Given the description of an element on the screen output the (x, y) to click on. 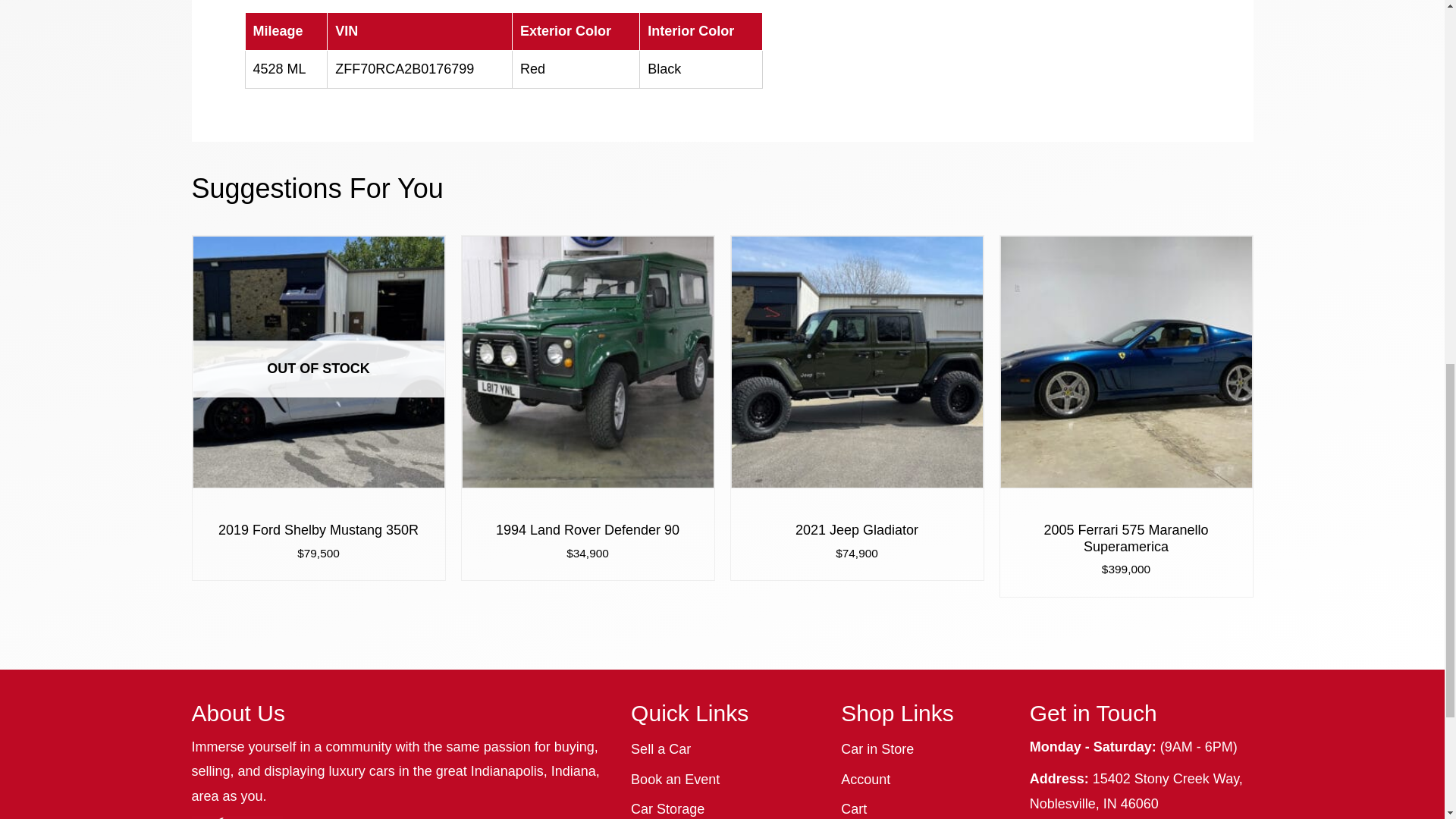
Indiana Horse Power Logo (236, 817)
